Given the description of an element on the screen output the (x, y) to click on. 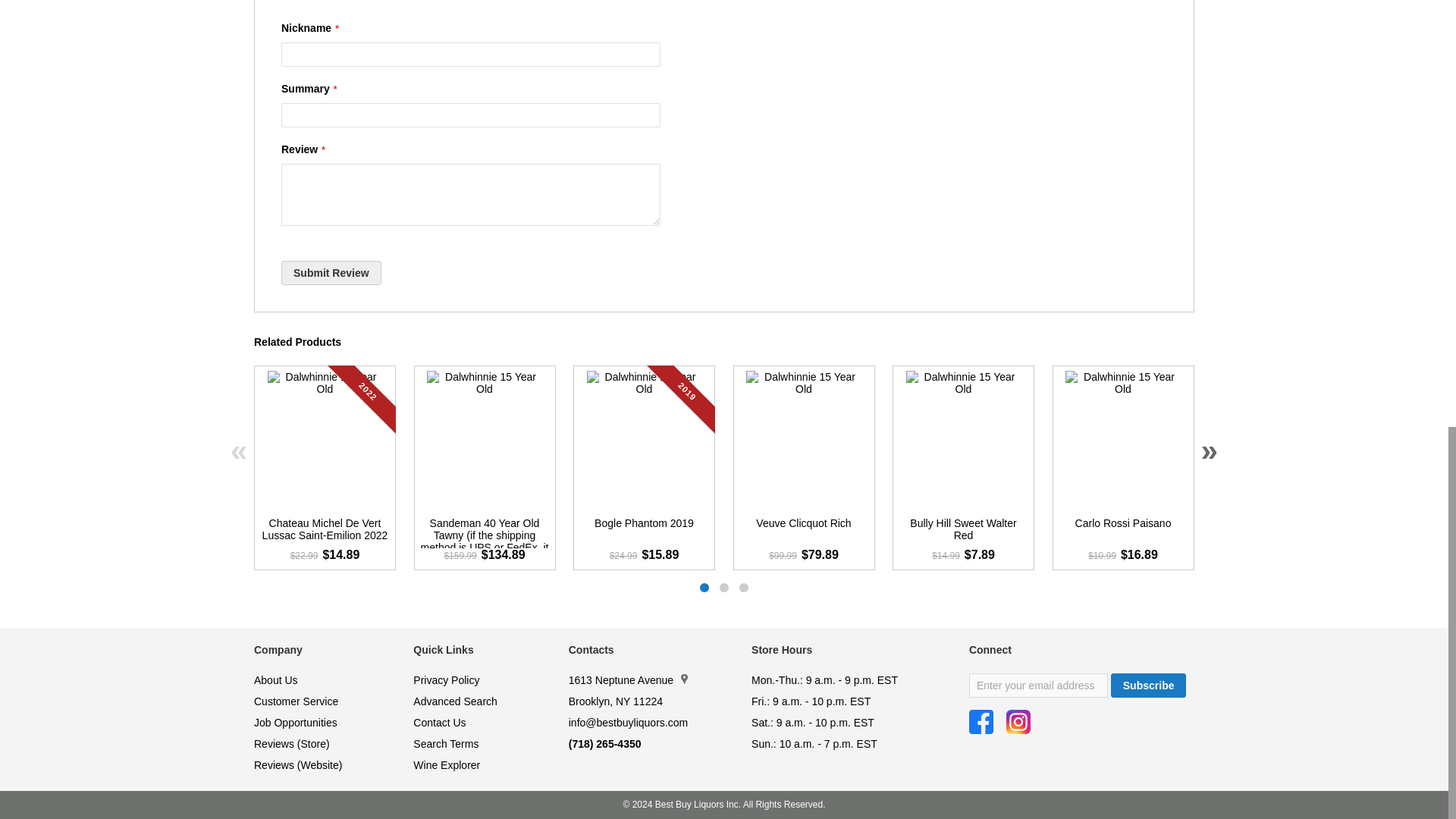
Chateau Michel De Vert Lussac Saint-Emilion 2022 (324, 531)
Bogle Phantom 2019 (643, 531)
